Given the description of an element on the screen output the (x, y) to click on. 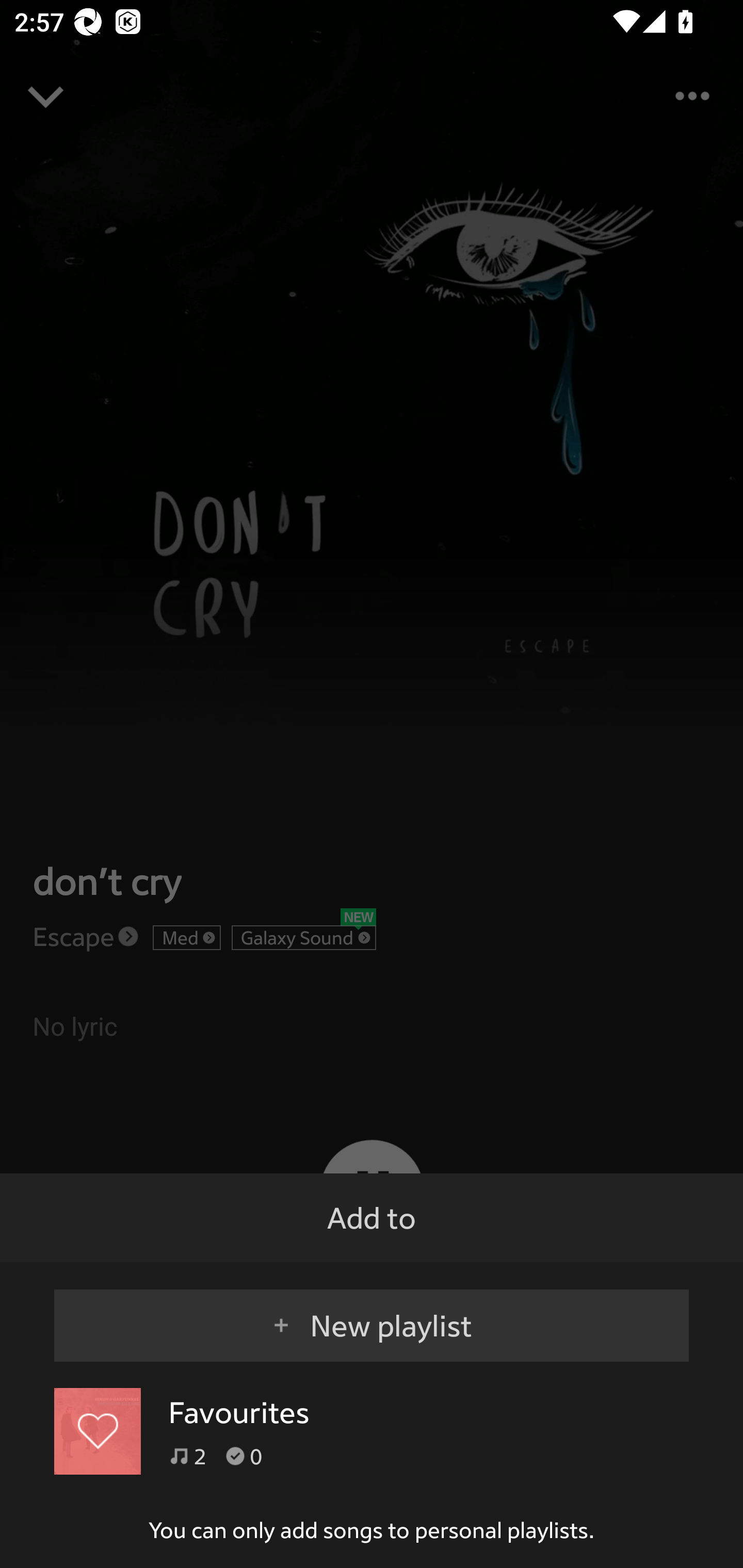
New playlist (371, 1316)
Favourites 2 0 (371, 1431)
You can only add songs to personal playlists. (371, 1530)
